Given the description of an element on the screen output the (x, y) to click on. 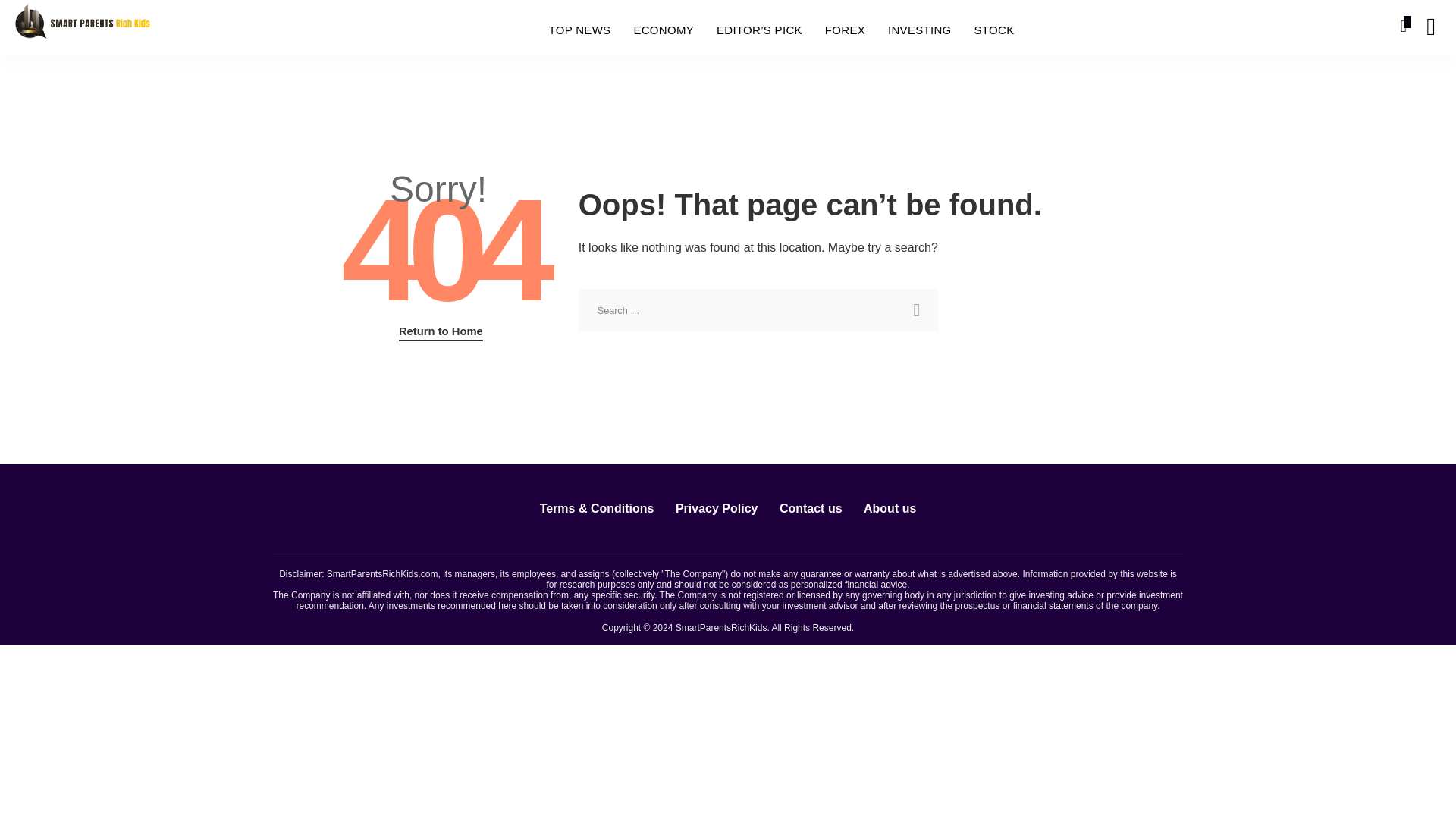
FOREX (844, 30)
TOP NEWS (580, 30)
STOCK (994, 30)
Contact us (810, 507)
Search (1419, 84)
INVESTING (919, 30)
Privacy Policy (716, 507)
ECONOMY (662, 30)
Return to Home (440, 331)
Search (916, 310)
